Given the description of an element on the screen output the (x, y) to click on. 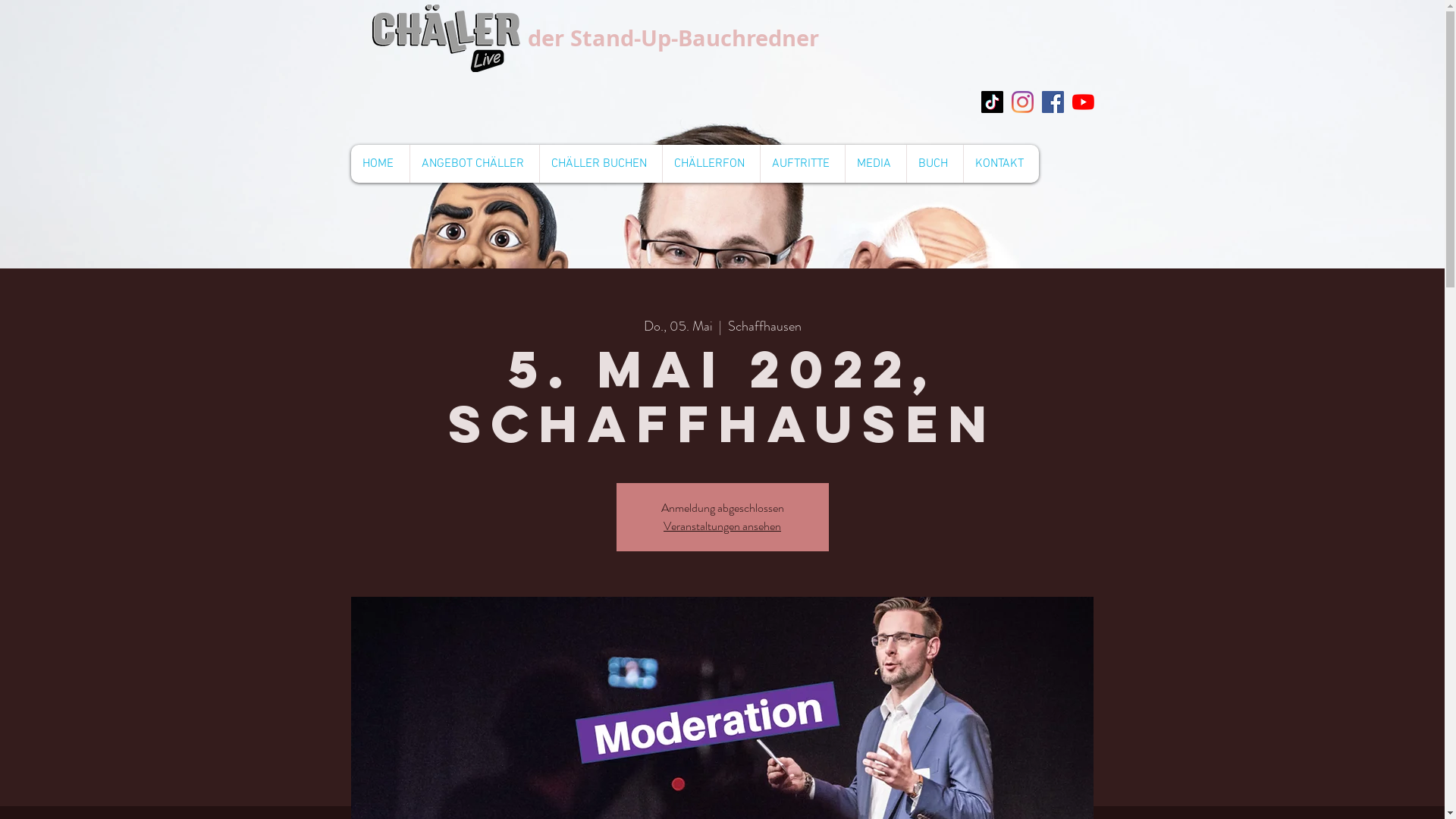
BUCH Element type: text (933, 163)
AUFTRITTE Element type: text (801, 163)
KONTAKT Element type: text (1000, 163)
HOME Element type: text (379, 163)
der Stand-Up-Bauchredner Element type: text (673, 37)
Veranstaltungen ansehen Element type: text (722, 525)
MEDIA Element type: text (875, 163)
